Given the description of an element on the screen output the (x, y) to click on. 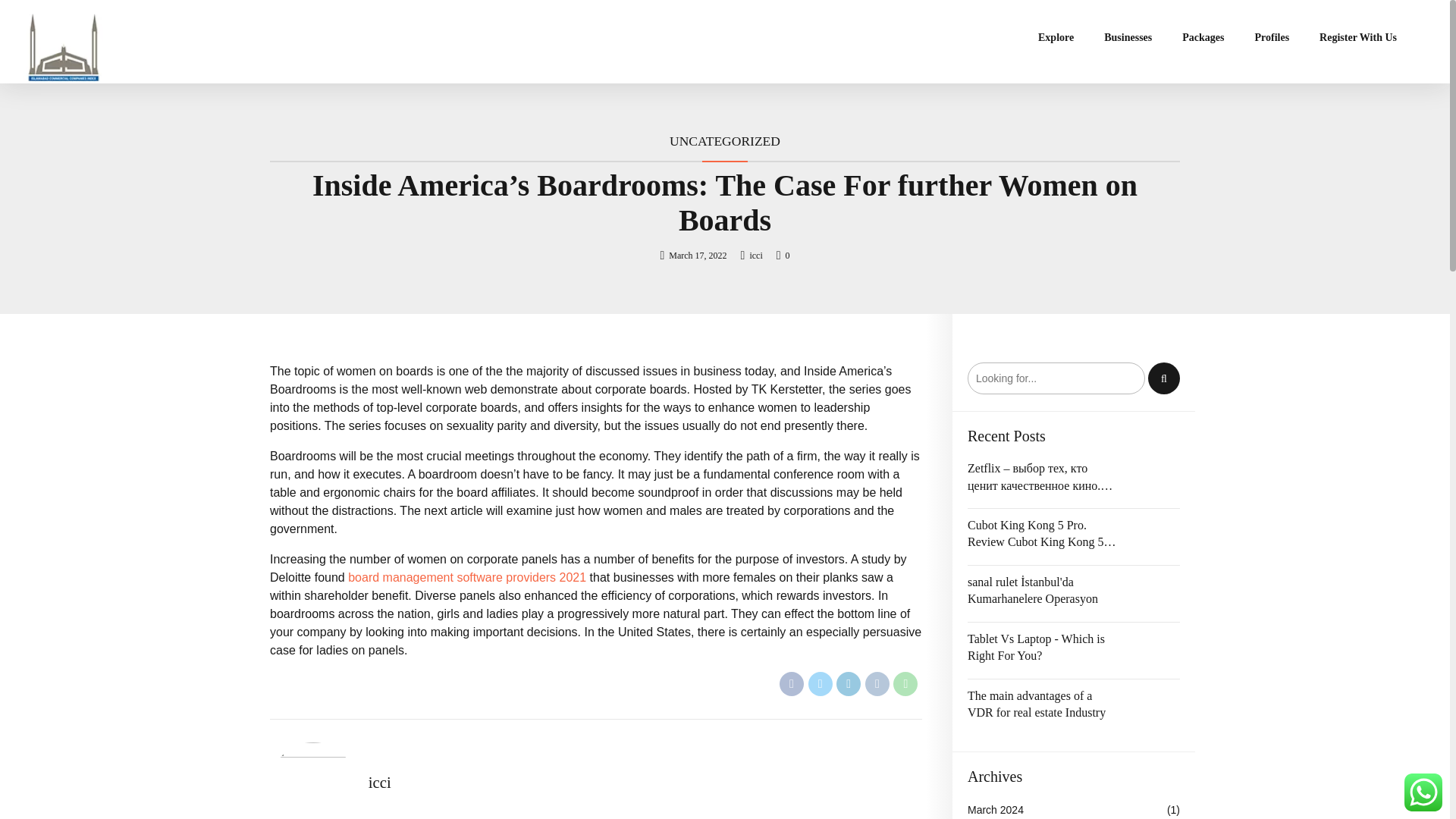
Register With Us (1357, 38)
icci (758, 255)
The main advantages of a VDR for real estate Industry (1042, 704)
Share on VK (876, 683)
Tablet Vs Laptop - Which is Right For You? (1042, 647)
Share on Facebook (790, 683)
UNCATEGORIZED (724, 140)
icci (379, 782)
Share on Twitter (820, 683)
Share on WhatsApp (905, 683)
Share on Linkedin (847, 683)
board management software providers 2021 (466, 576)
